Given the description of an element on the screen output the (x, y) to click on. 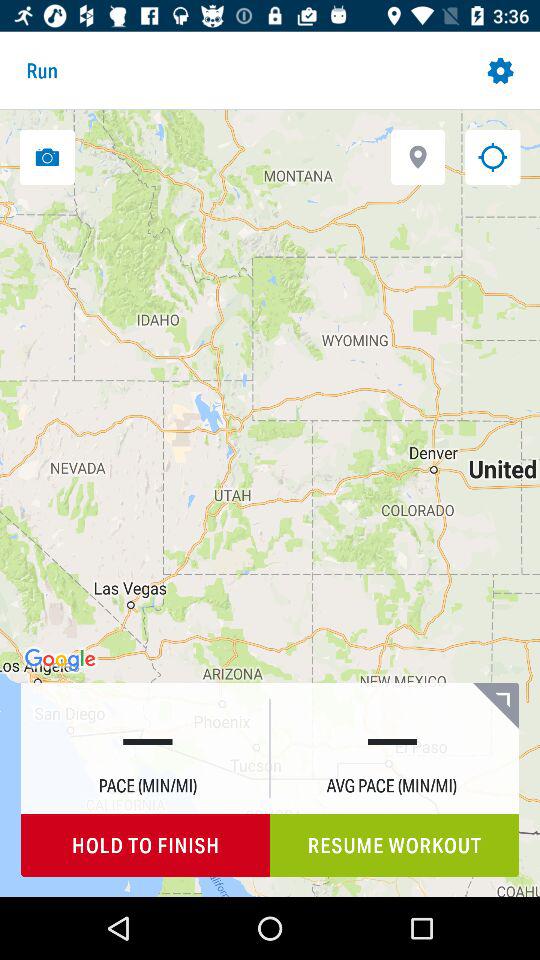
enter a picture from your running location (47, 156)
